Given the description of an element on the screen output the (x, y) to click on. 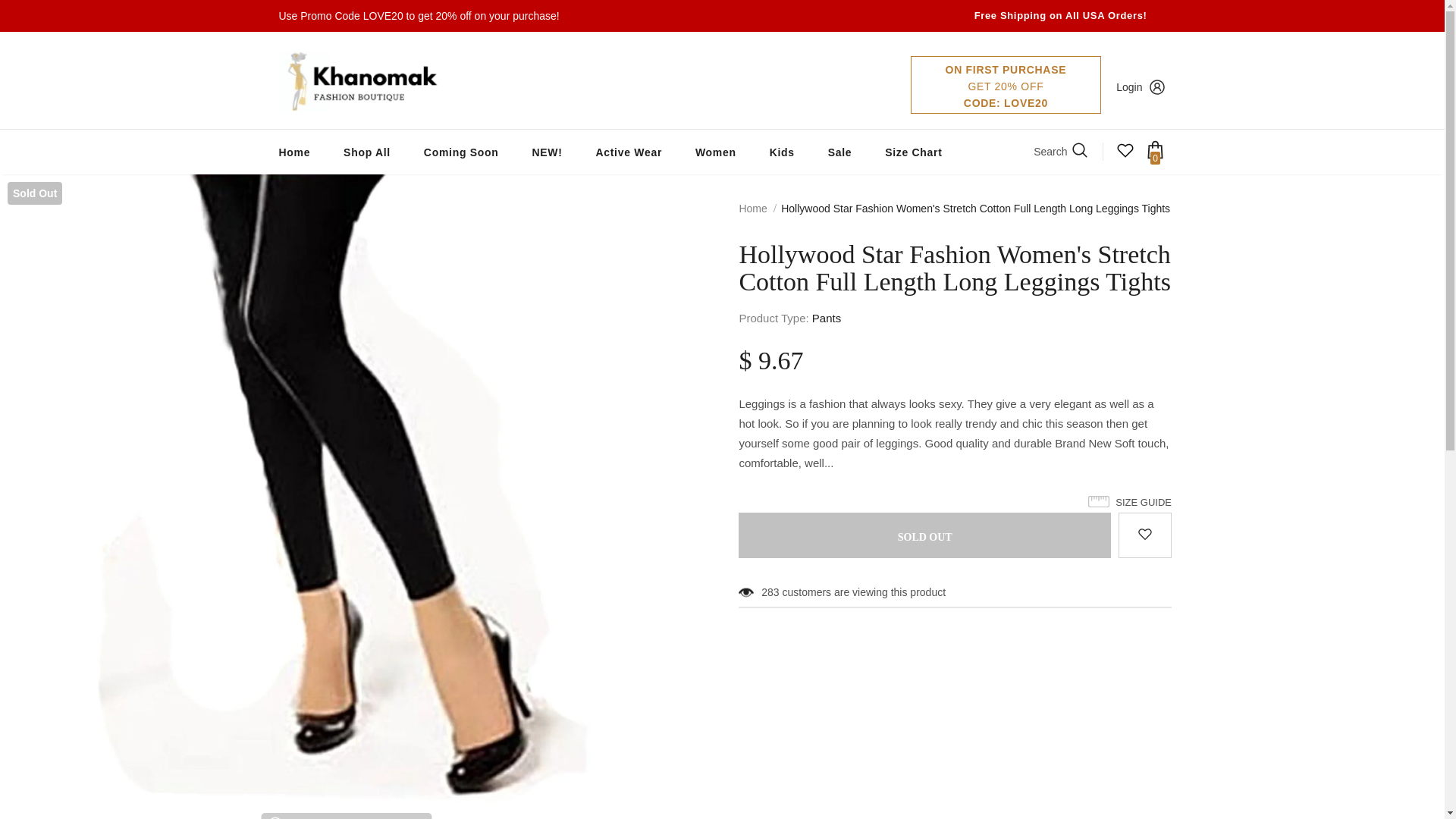
Sold Out (924, 534)
